Given the description of an element on the screen output the (x, y) to click on. 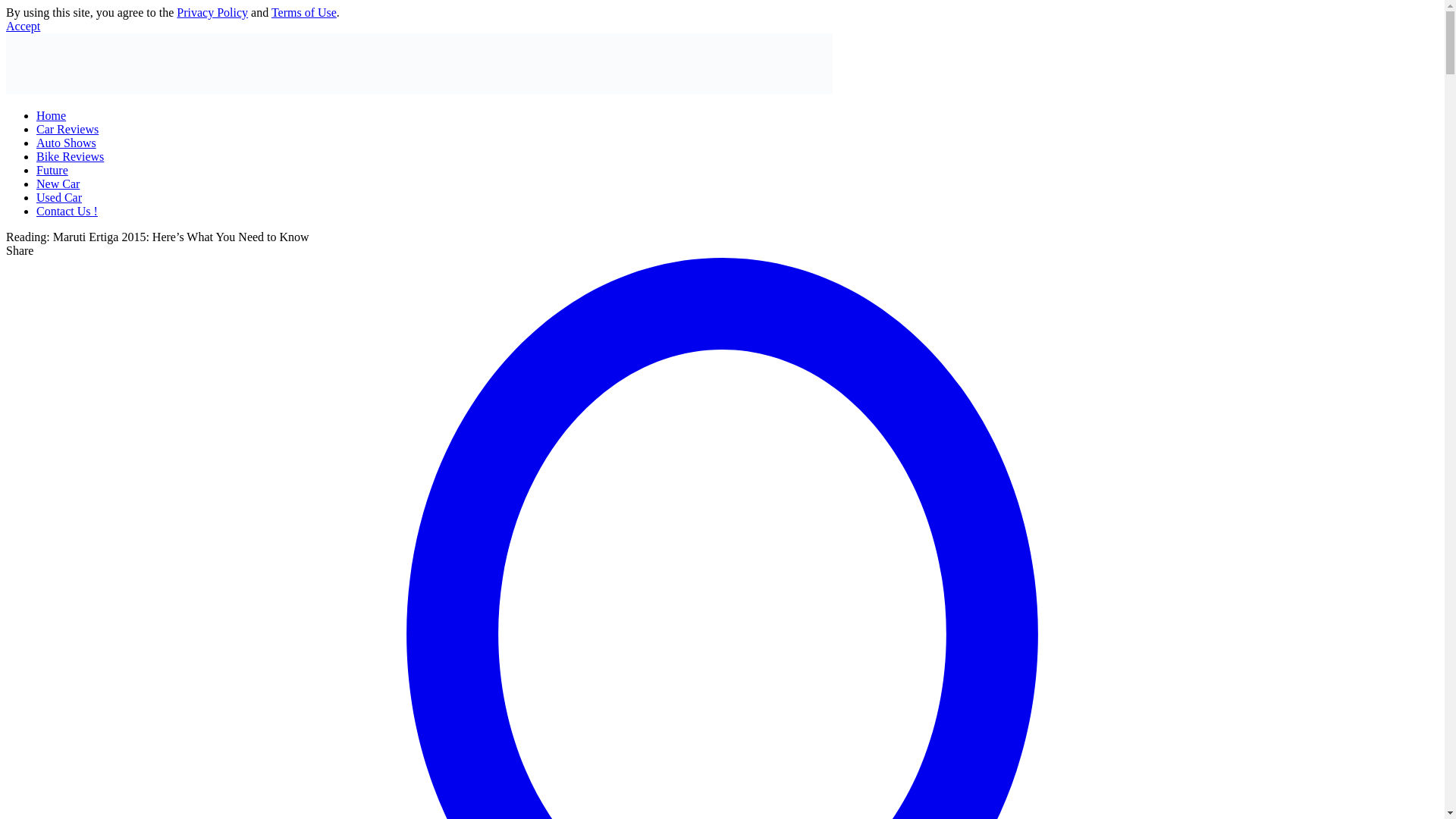
Car Reviews (67, 128)
Terms of Use (303, 11)
Used Car (58, 196)
BeFirsTrank (418, 89)
Future (52, 169)
New Car (58, 183)
Bike Reviews (69, 155)
Privacy Policy (211, 11)
Auto Shows (66, 142)
Contact Us ! (66, 210)
